Given the description of an element on the screen output the (x, y) to click on. 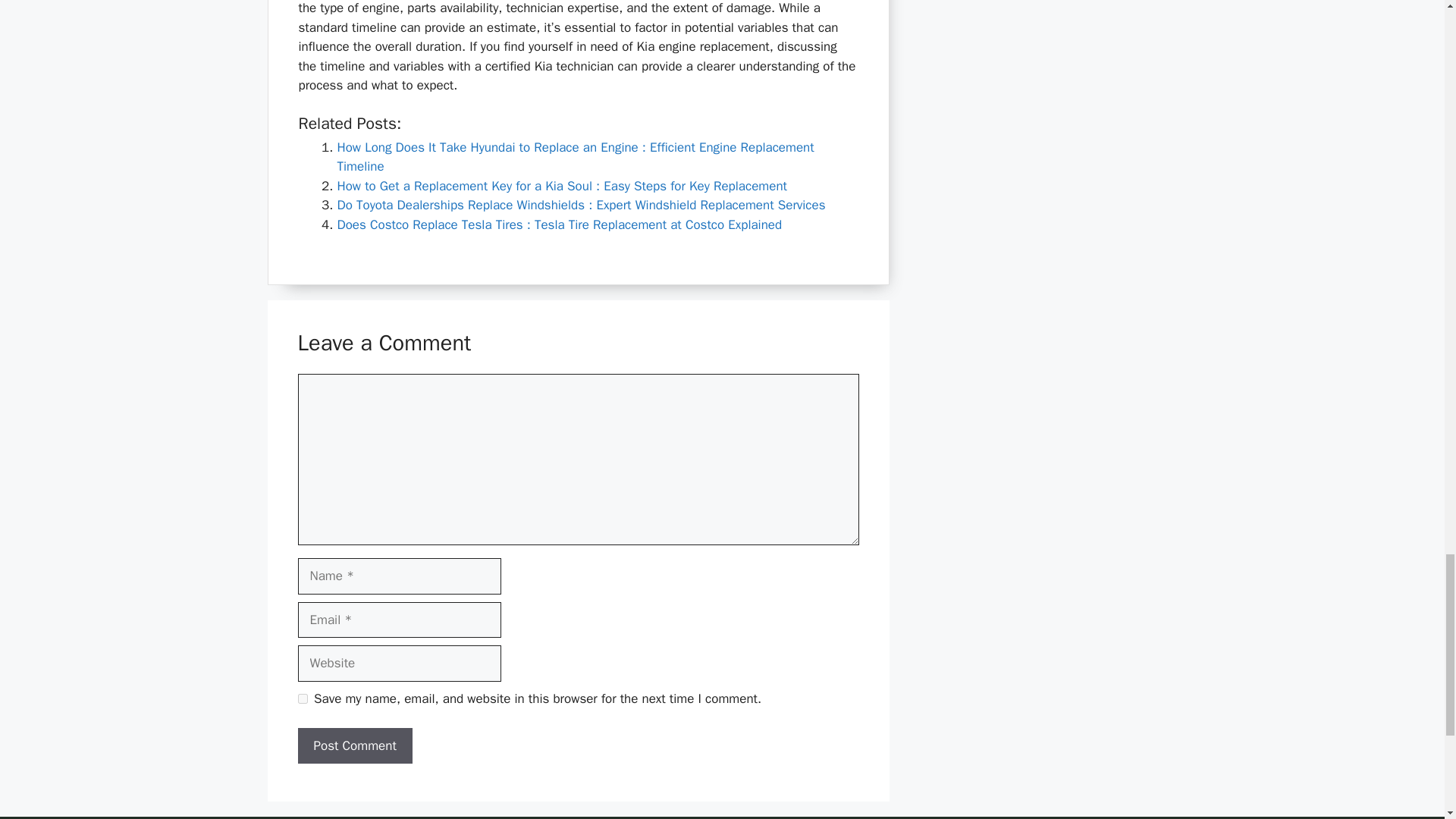
yes (302, 698)
Post Comment (354, 746)
